Given the description of an element on the screen output the (x, y) to click on. 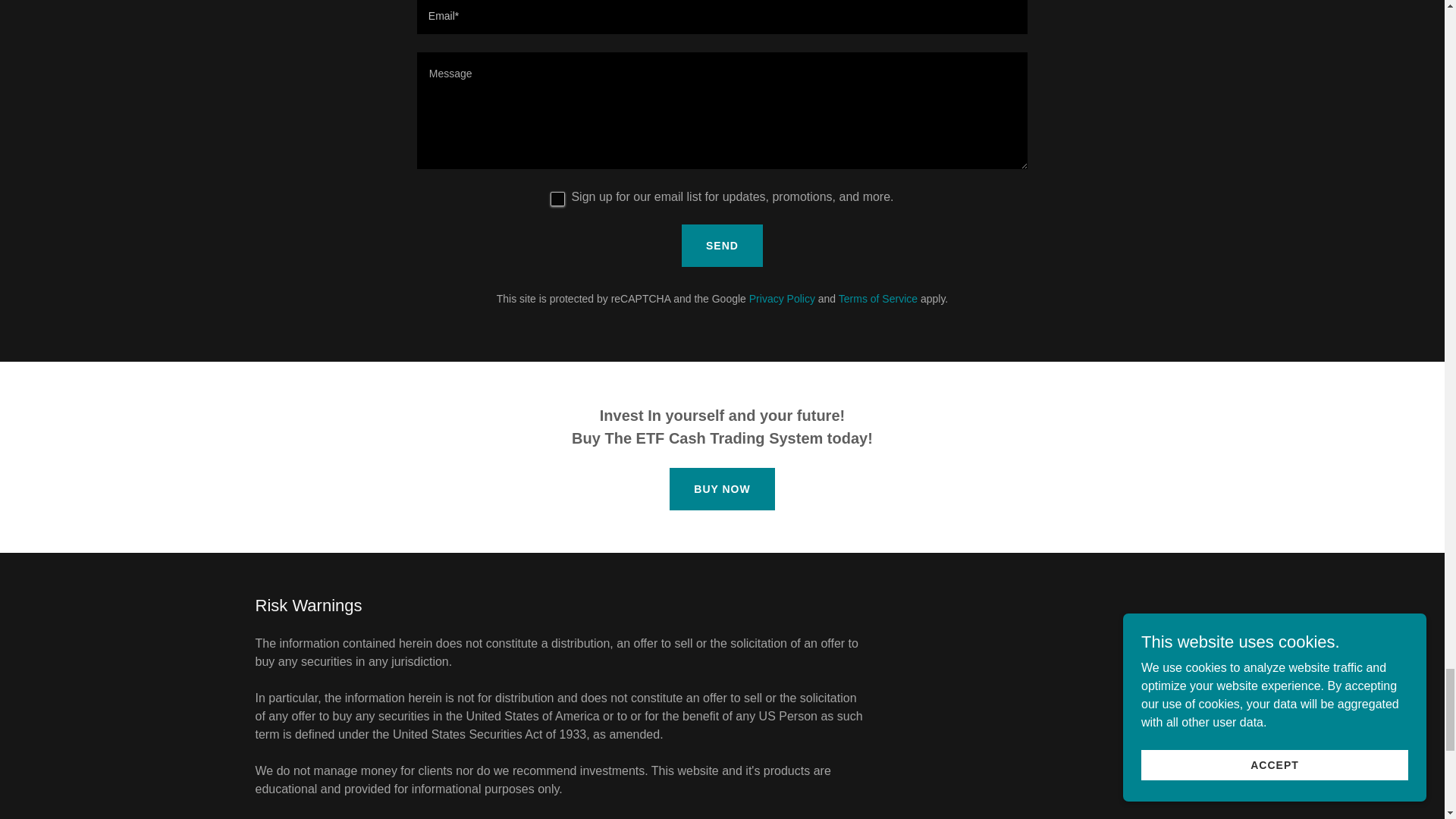
Terms of Service (877, 298)
BUY NOW (721, 488)
Privacy Policy (782, 298)
SEND (721, 245)
